Given the description of an element on the screen output the (x, y) to click on. 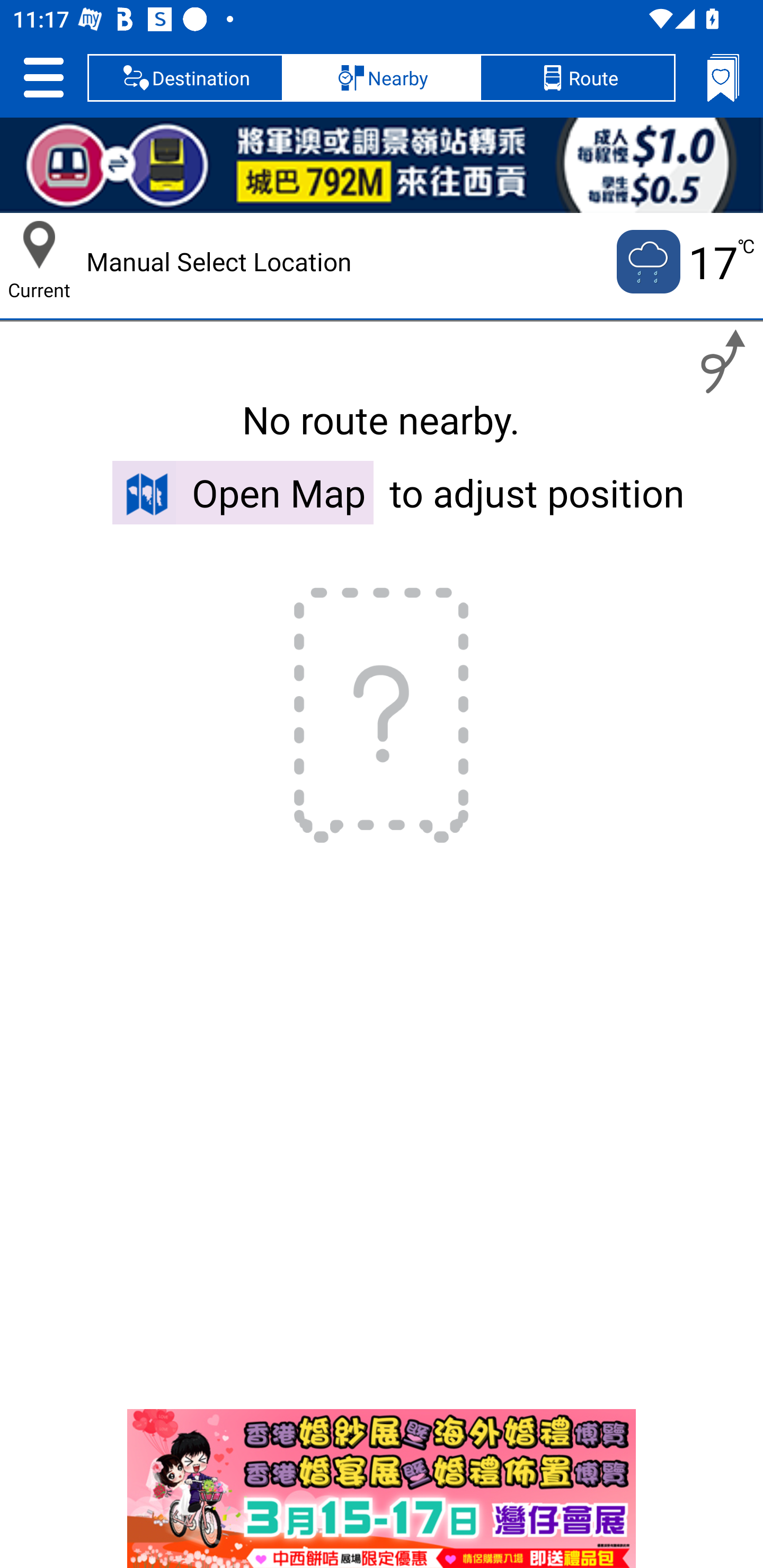
Destination (185, 77)
Nearby, selected (381, 77)
Route (577, 77)
Bookmarks (723, 77)
Setting (43, 77)
792M BRI (381, 165)
Current Location (38, 244)
Current temputure is  17  no 17 ℃ (684, 261)
Open Map (242, 491)
index (381, 1488)
